Given the description of an element on the screen output the (x, y) to click on. 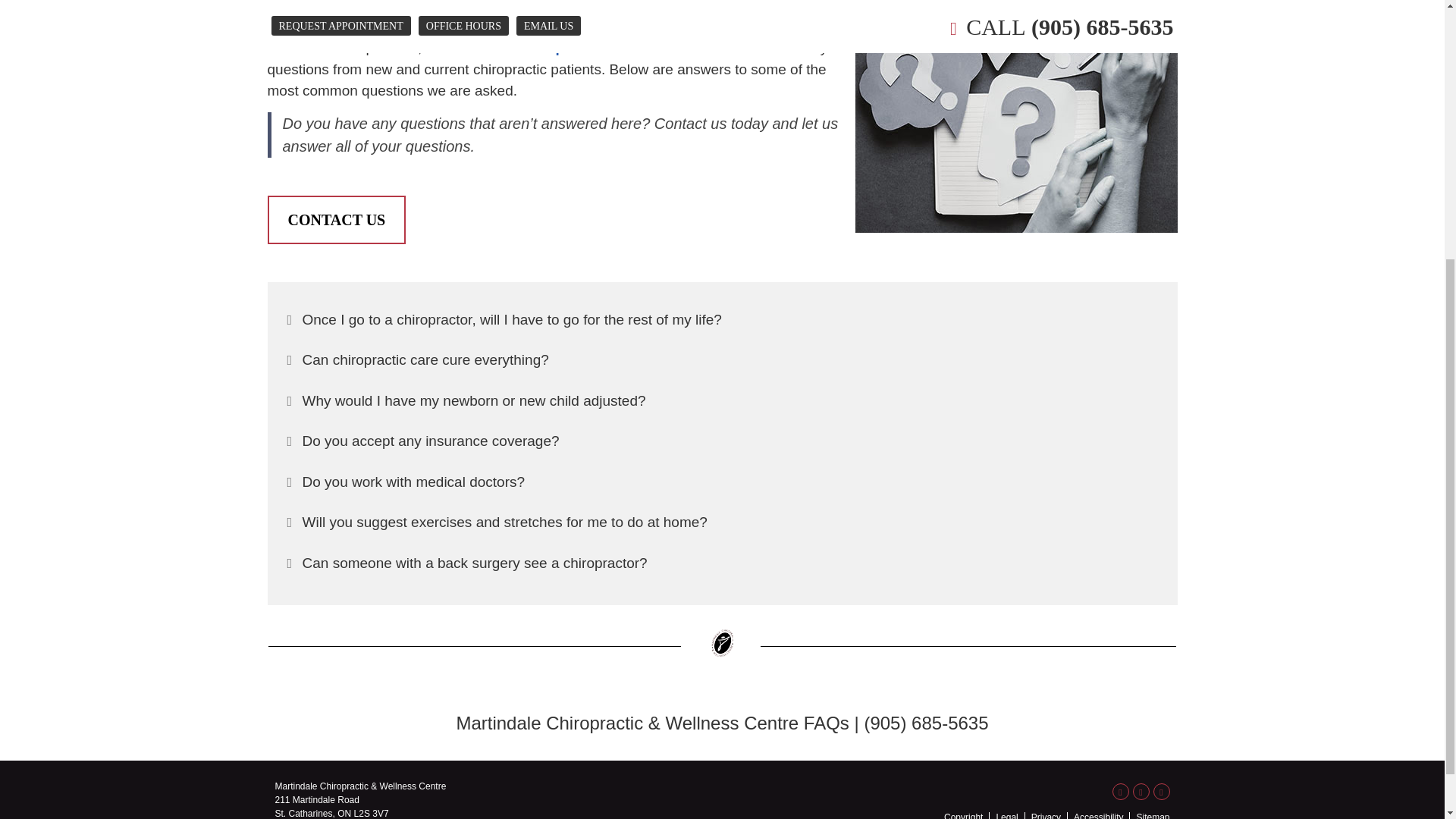
Can chiropractic care cure everything? (721, 360)
Do you accept any insurance coverage? (721, 441)
Do you work with medical doctors? (721, 482)
Why would I have my newborn or new child adjusted? (721, 401)
Why would I have my newborn or new child adjusted? (721, 401)
Do you accept any insurance coverage? (721, 441)
CONTACT US (336, 219)
Can chiropractic care cure everything? (721, 360)
